Given the description of an element on the screen output the (x, y) to click on. 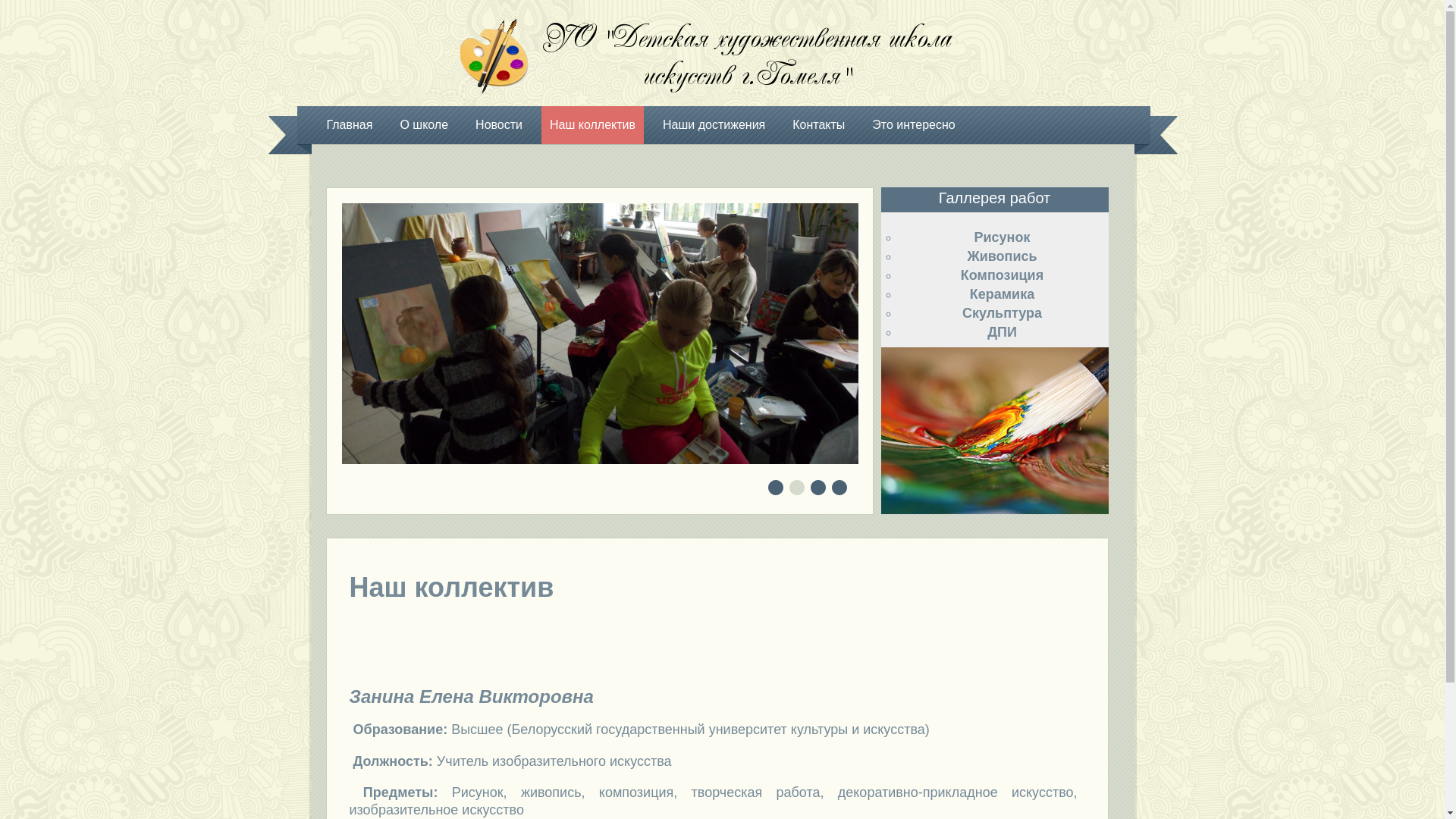
4 Element type: text (840, 489)
2 Element type: text (797, 489)
3 Element type: text (818, 489)
1 Element type: text (776, 489)
